Given the description of an element on the screen output the (x, y) to click on. 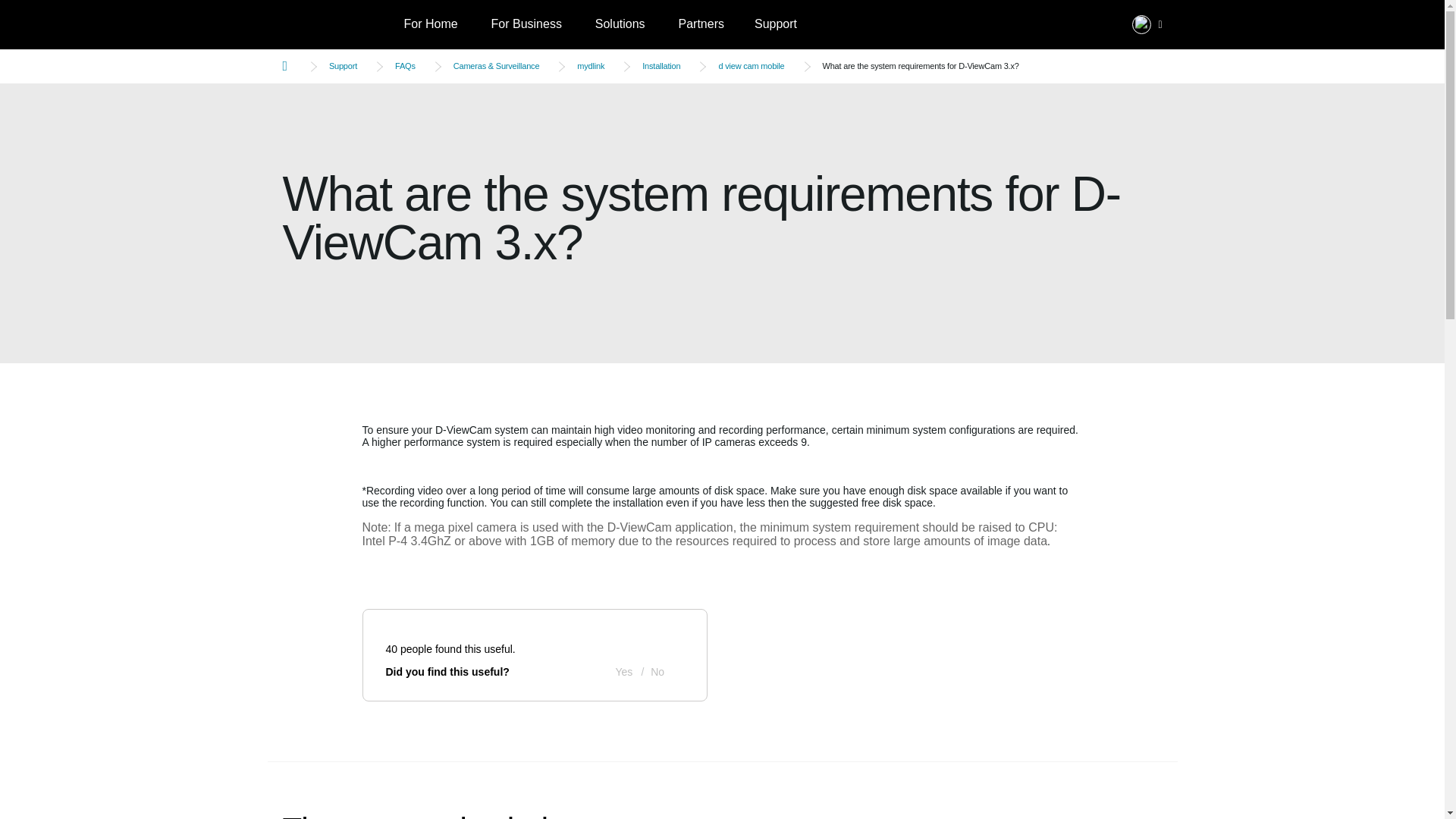
For Business (526, 24)
For Home (429, 24)
D-Link (335, 24)
Support (775, 24)
Partners (700, 24)
Solutions (620, 24)
